Given the description of an element on the screen output the (x, y) to click on. 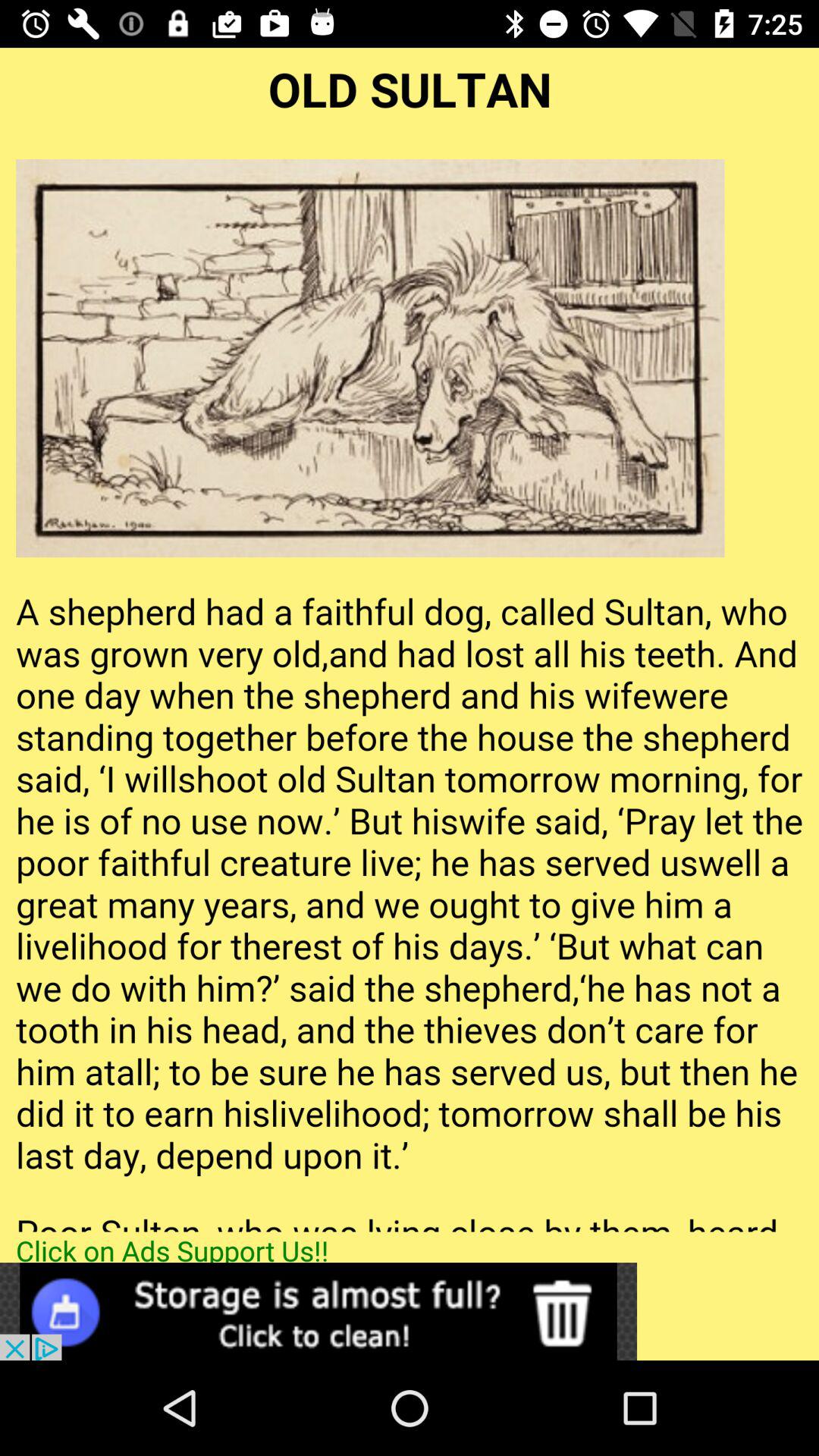
click on advertisement (318, 1311)
